Given the description of an element on the screen output the (x, y) to click on. 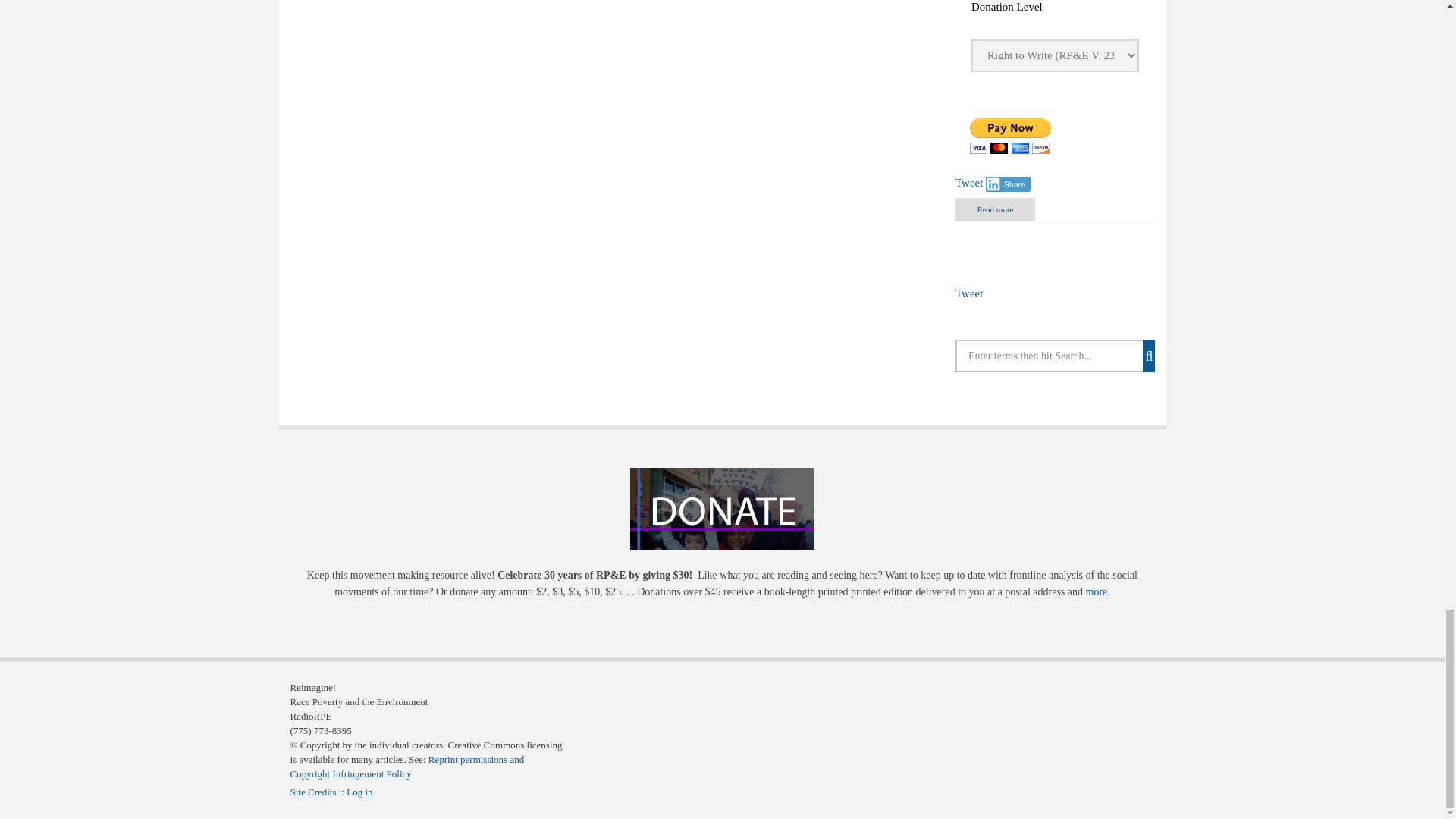
Enter terms then hit Search... (1054, 355)
